Given the description of an element on the screen output the (x, y) to click on. 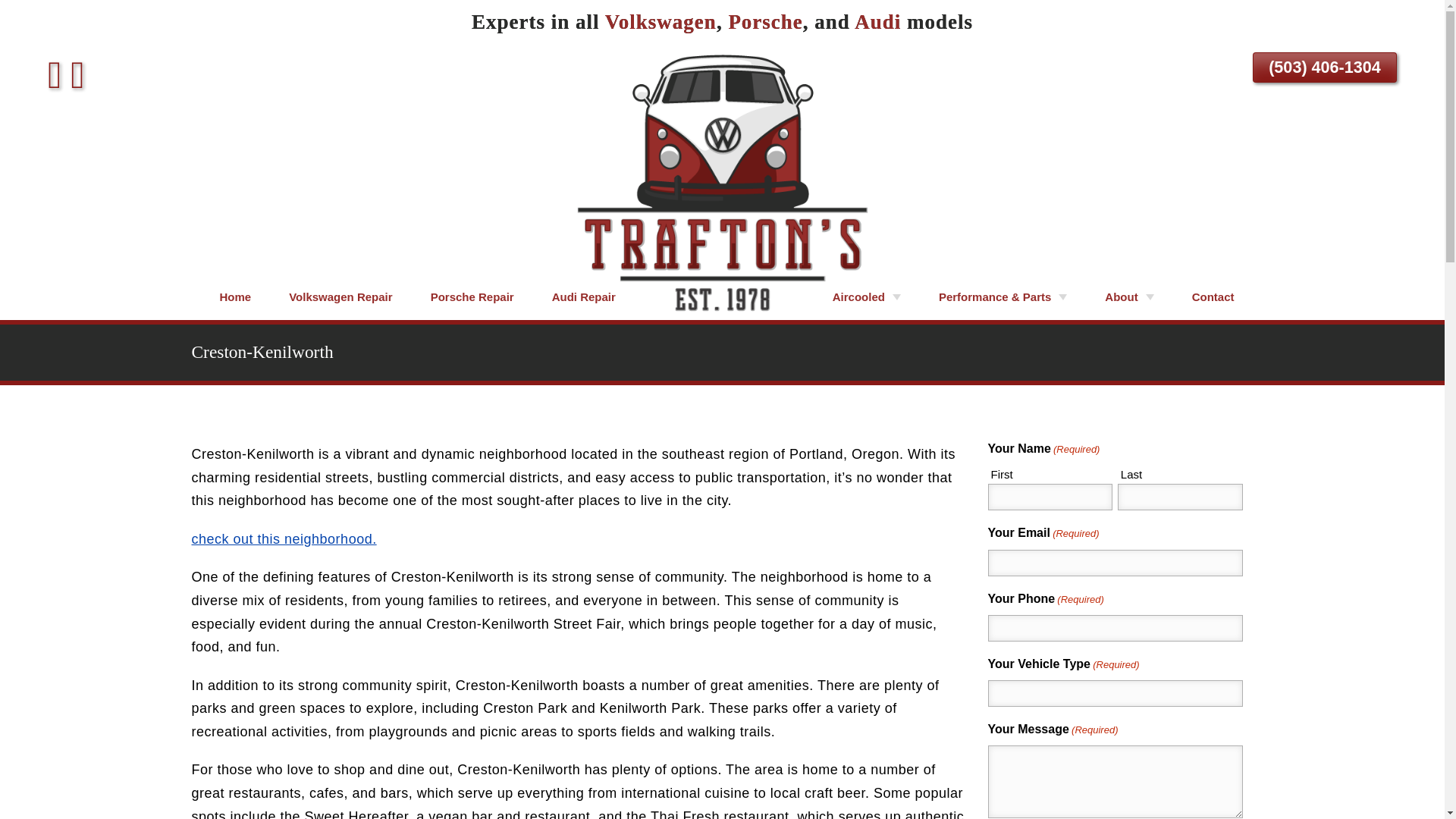
Volkswagen (660, 21)
Volkswagen Repair (339, 296)
Audi Repair (583, 296)
Porsche Repair (472, 296)
check out this neighborhood. (282, 539)
Audi (877, 21)
Contact (1213, 296)
Home (234, 296)
Aircooled (866, 296)
Porsche (765, 21)
About (1129, 296)
